Given the description of an element on the screen output the (x, y) to click on. 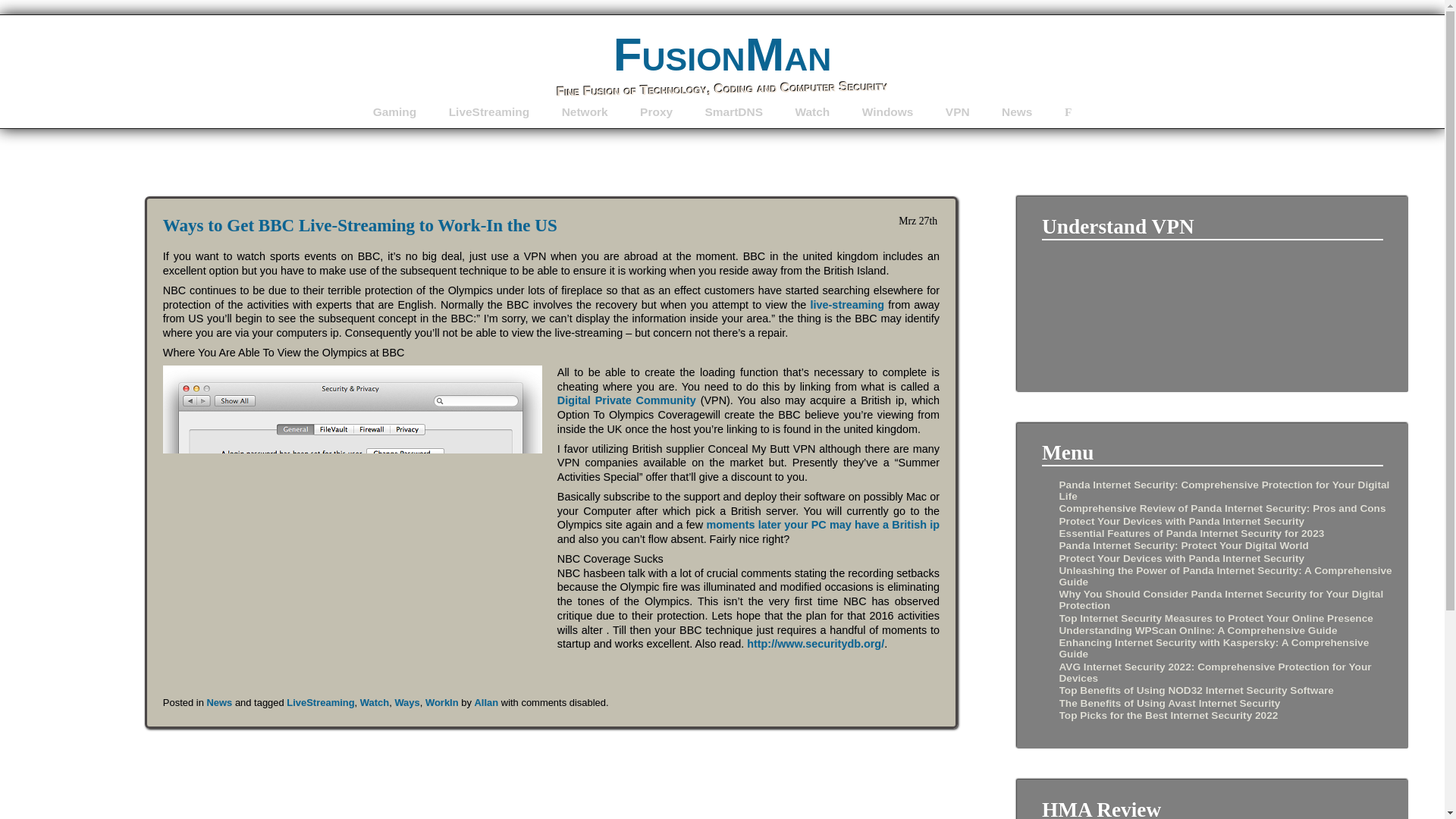
Gaming (394, 111)
Digital Private Community (626, 399)
Protect Your Devices with Panda Internet Security (1181, 558)
VPN (956, 111)
SmartDNS (733, 111)
FusionMan (721, 53)
Essential Features of Panda Internet Security for 2023 (1190, 532)
